Given the description of an element on the screen output the (x, y) to click on. 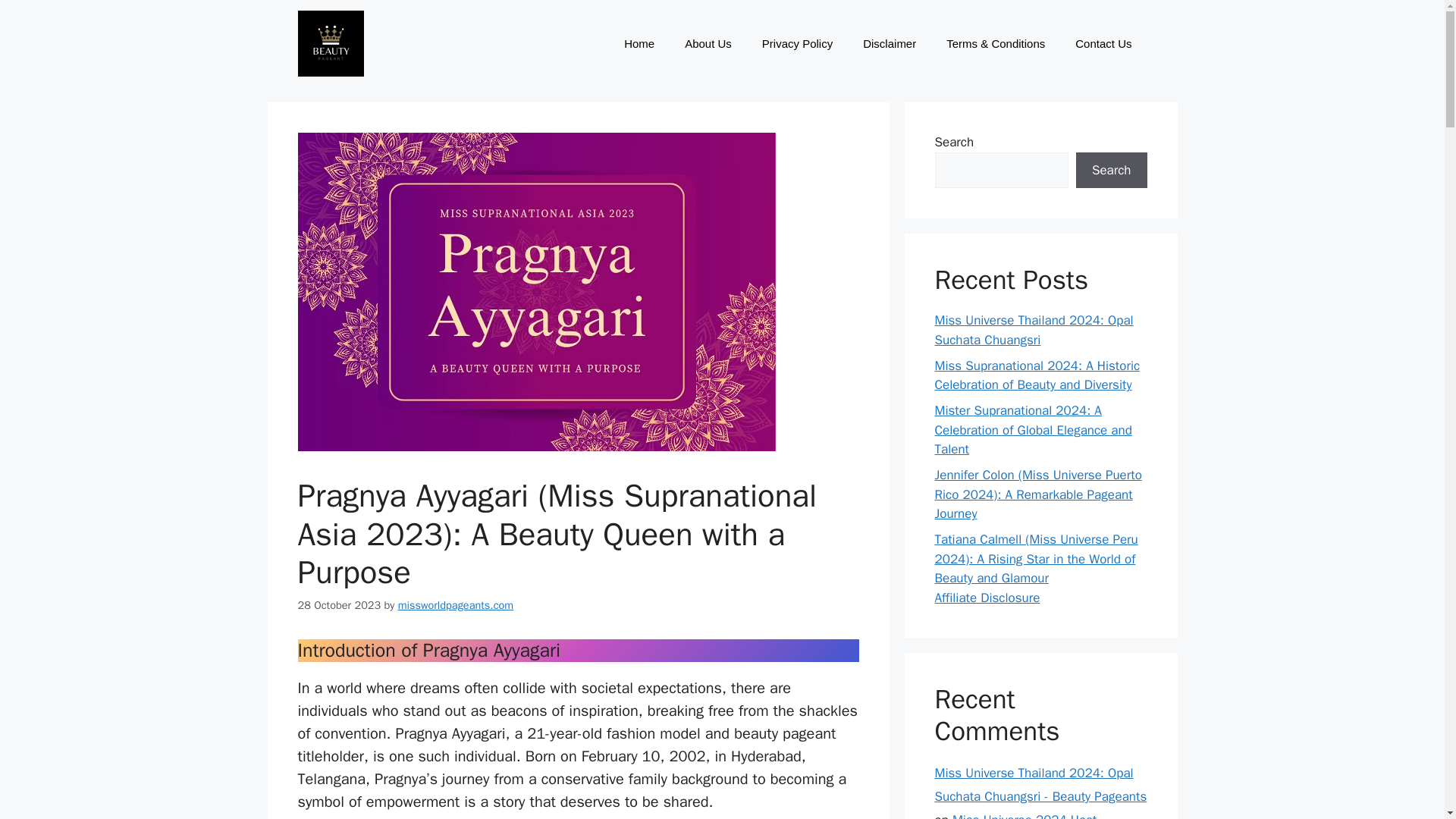
View all posts by missworldpageants.com (455, 604)
About Us (707, 43)
missworldpageants.com (455, 604)
Disclaimer (889, 43)
Contact Us (1103, 43)
Privacy Policy (796, 43)
Home (638, 43)
